Given the description of an element on the screen output the (x, y) to click on. 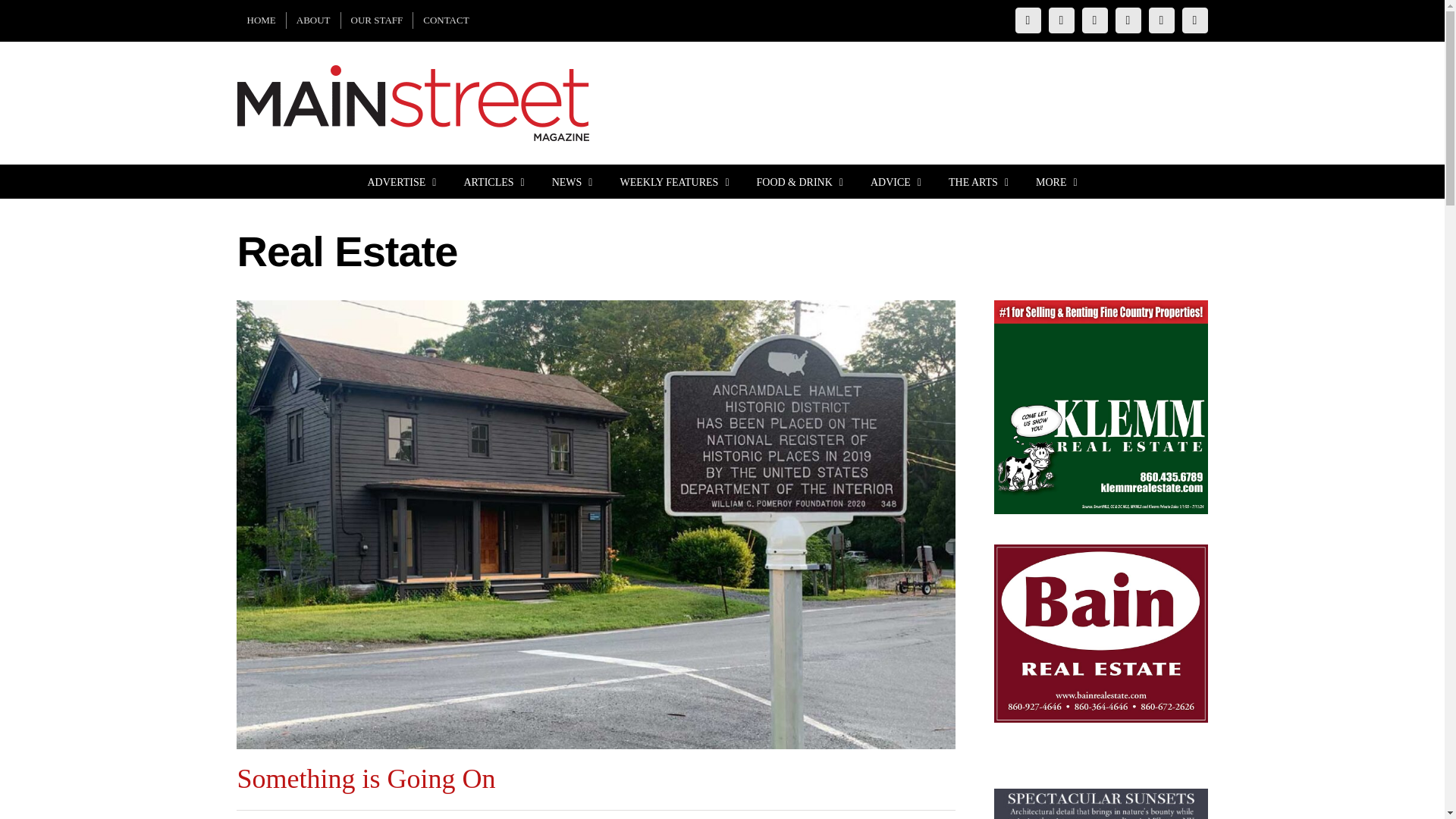
Instagram (1061, 20)
NEWS (571, 181)
Tiktok (1161, 20)
Spotify (1195, 20)
Posts by Christine Bates (276, 818)
ADVERTISE (400, 181)
ABOUT (313, 20)
OUR STAFF (376, 20)
YouTube (1128, 20)
CONTACT (446, 20)
